Given the description of an element on the screen output the (x, y) to click on. 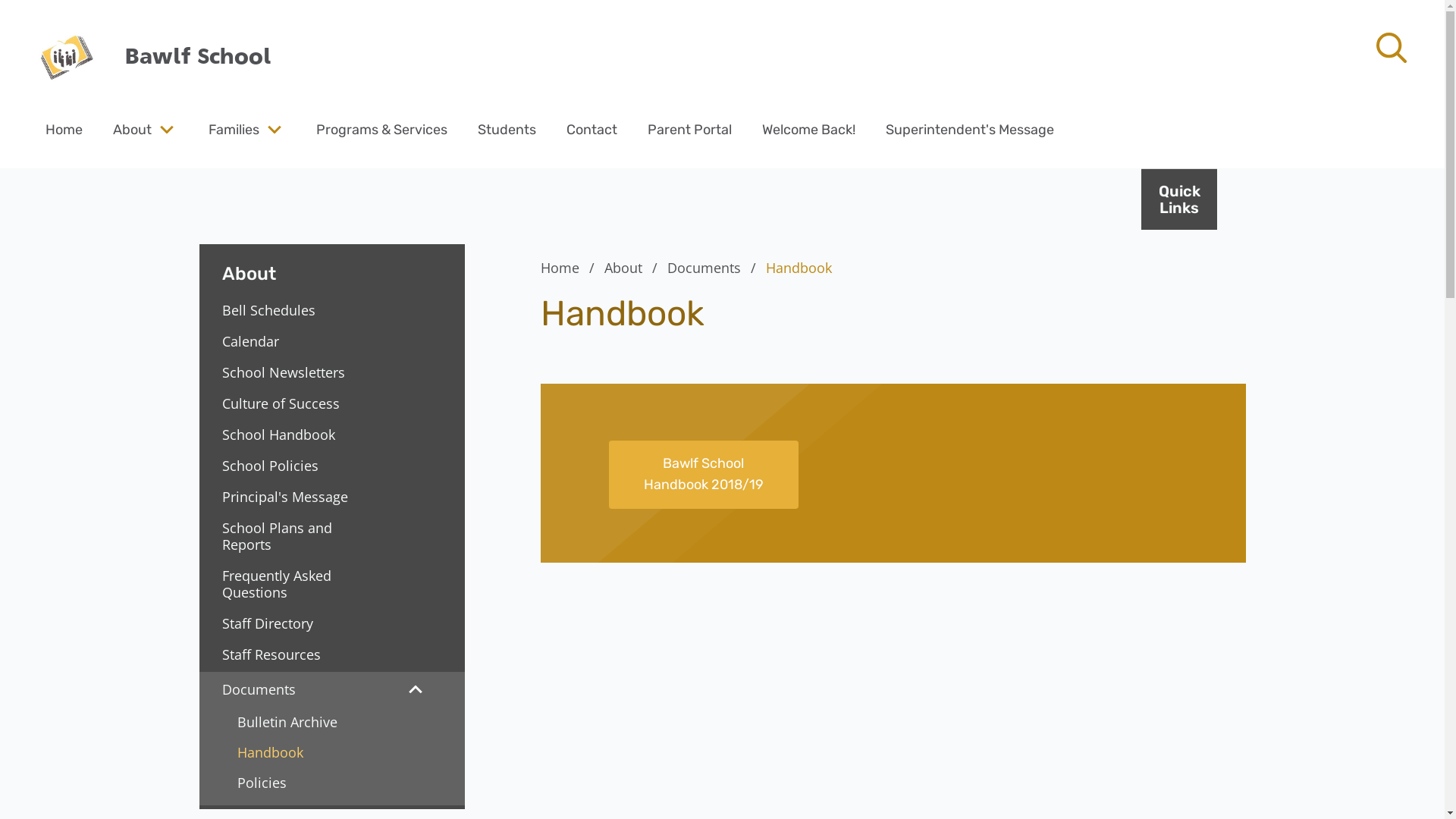
Bell Schedules Element type: text (287, 309)
Search Element type: text (45, 19)
School Policies Element type: text (287, 465)
Handbook Element type: text (331, 752)
Home Element type: text (569, 267)
Welcome Back! Element type: text (808, 129)
Frequently Asked Questions Element type: text (287, 583)
Programs & Services Element type: text (381, 129)
Quick Links Element type: text (1179, 198)
Bulletin Archive Element type: text (331, 721)
Staff Directory Element type: text (287, 623)
Culture of Success Element type: text (287, 403)
Documents Element type: text (714, 267)
School Handbook Element type: text (287, 434)
Staff Resources Element type: text (287, 654)
School Plans and Reports Element type: text (287, 536)
About Element type: text (131, 129)
Bawlf School Handbook 2018/19 Element type: text (702, 474)
Families Element type: text (233, 129)
Contact Element type: text (591, 129)
Students Element type: text (506, 129)
About Element type: text (632, 267)
Policies Element type: text (331, 782)
Superintendent's Message Element type: text (969, 129)
home Element type: hover (64, 56)
Documents Element type: text (284, 688)
Home Element type: text (63, 129)
About Element type: text (331, 264)
Parent Portal Element type: text (689, 129)
Calendar Element type: text (287, 340)
Principal's Message Element type: text (287, 496)
School Newsletters Element type: text (287, 371)
